Given the description of an element on the screen output the (x, y) to click on. 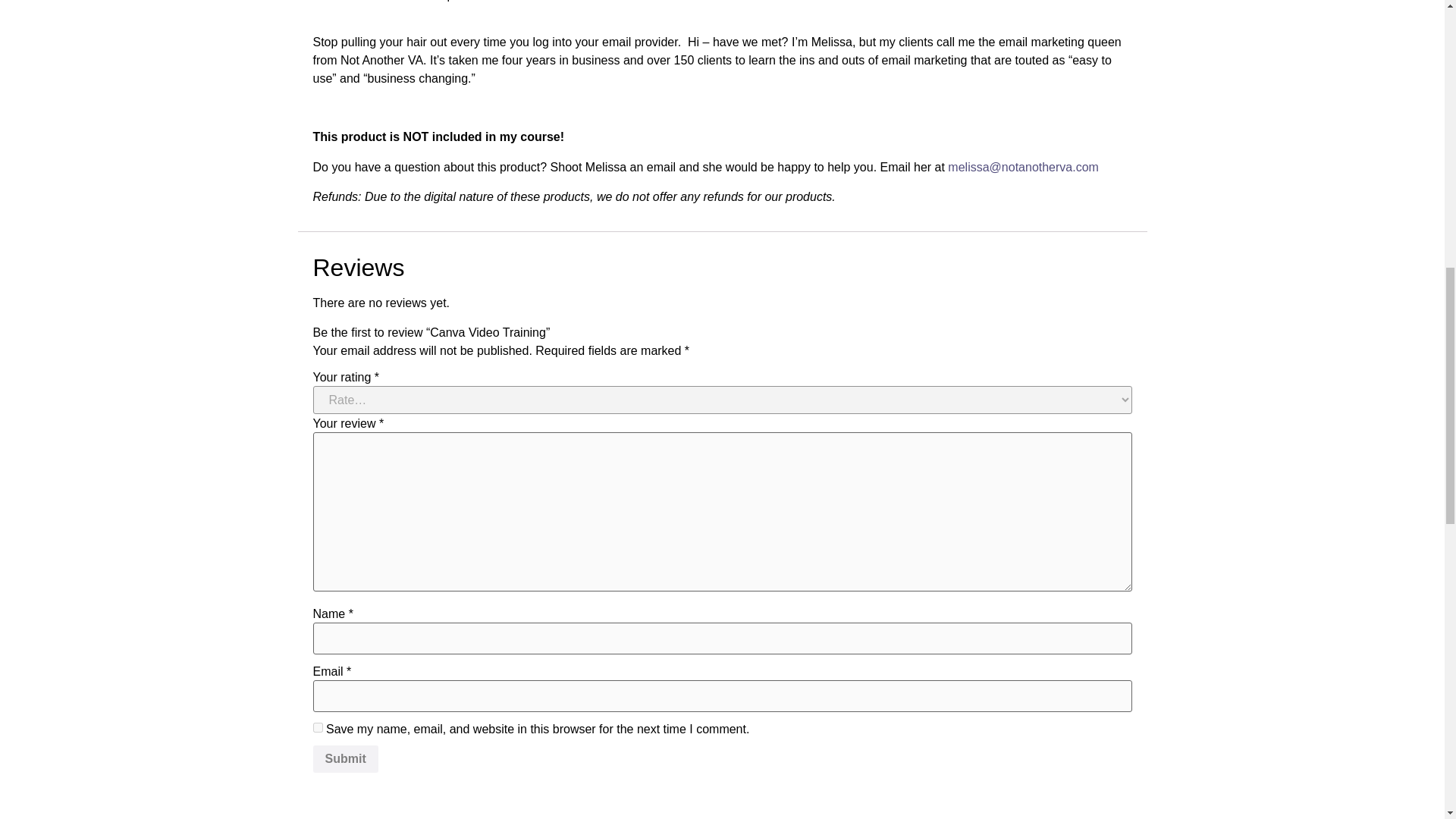
Submit (345, 759)
yes (317, 727)
